Given the description of an element on the screen output the (x, y) to click on. 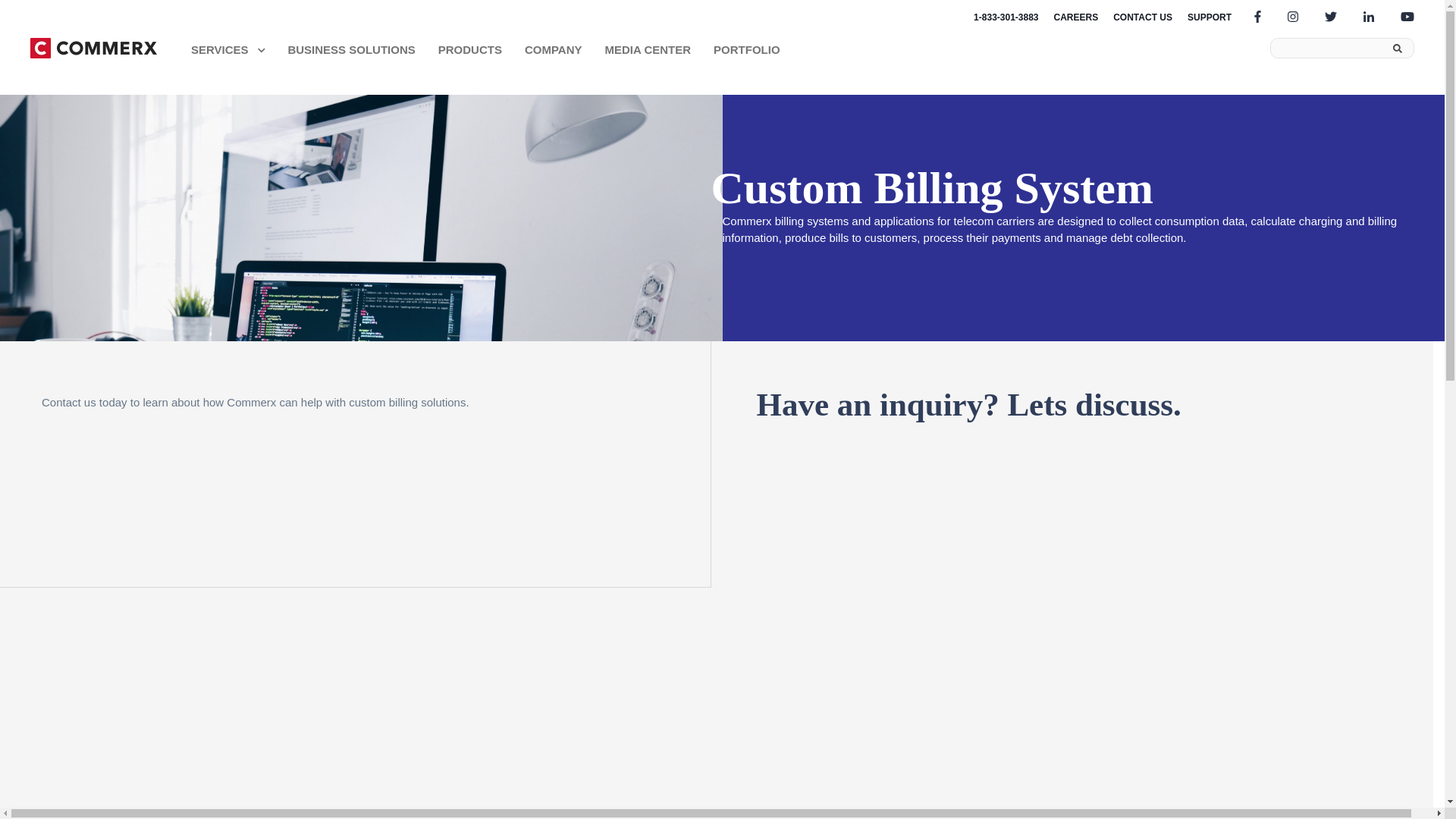
SERVICES (227, 49)
CONTACT US (1142, 17)
CAREERS (1076, 17)
SUPPORT (1209, 17)
1-833-301-3883 (1006, 17)
